Given the description of an element on the screen output the (x, y) to click on. 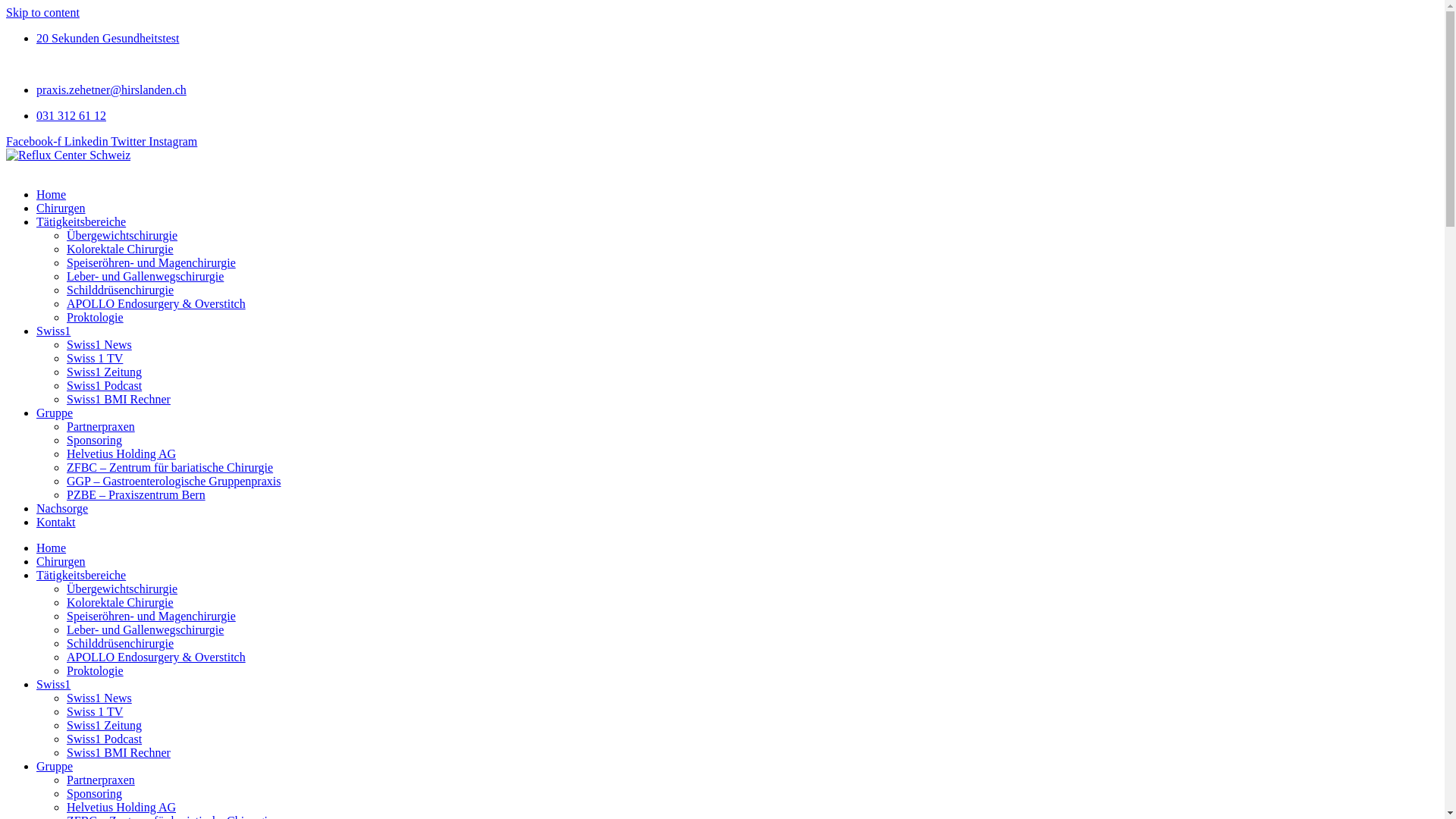
Instagram Element type: text (172, 140)
Partnerpraxen Element type: text (100, 426)
Swiss 1 TV Element type: text (94, 711)
Linkedin Element type: text (87, 140)
Swiss1 Zeitung Element type: text (103, 724)
Swiss1 News Element type: text (98, 697)
Leber- und Gallenwegschirurgie Element type: text (144, 275)
Nachsorge Element type: text (61, 508)
Swiss1 News Element type: text (98, 344)
Gruppe Element type: text (54, 412)
Leber- und Gallenwegschirurgie Element type: text (144, 629)
Helvetius Holding AG Element type: text (120, 806)
Swiss1 Element type: text (53, 683)
Swiss1 BMI Rechner Element type: text (118, 398)
Skip to content Element type: text (42, 12)
031 312 61 12 Element type: text (71, 115)
Facebook-f Element type: text (35, 140)
Gruppe Element type: text (54, 765)
Home Element type: text (50, 547)
Twitter Element type: text (129, 140)
Sponsoring Element type: text (94, 793)
Partnerpraxen Element type: text (100, 779)
APOLLO Endosurgery & Overstitch Element type: text (155, 303)
Sponsoring Element type: text (94, 439)
Chirurgen Element type: text (60, 207)
20 Sekunden Gesundheitstest Element type: text (107, 37)
APOLLO Endosurgery & Overstitch Element type: text (155, 656)
Home Element type: text (50, 194)
Kolorektale Chirurgie Element type: text (119, 248)
Swiss 1 TV Element type: text (94, 357)
Kontakt Element type: text (55, 521)
Swiss1 Element type: text (53, 330)
praxis.zehetner@hirslanden.ch Element type: text (111, 89)
Proktologie Element type: text (94, 670)
Chirurgen Element type: text (60, 561)
Kolorektale Chirurgie Element type: text (119, 602)
Swiss1 Podcast Element type: text (103, 385)
Swiss1 Podcast Element type: text (103, 738)
Proktologie Element type: text (94, 316)
Swiss1 Zeitung Element type: text (103, 371)
Swiss1 BMI Rechner Element type: text (118, 752)
Helvetius Holding AG Element type: text (120, 453)
